Given the description of an element on the screen output the (x, y) to click on. 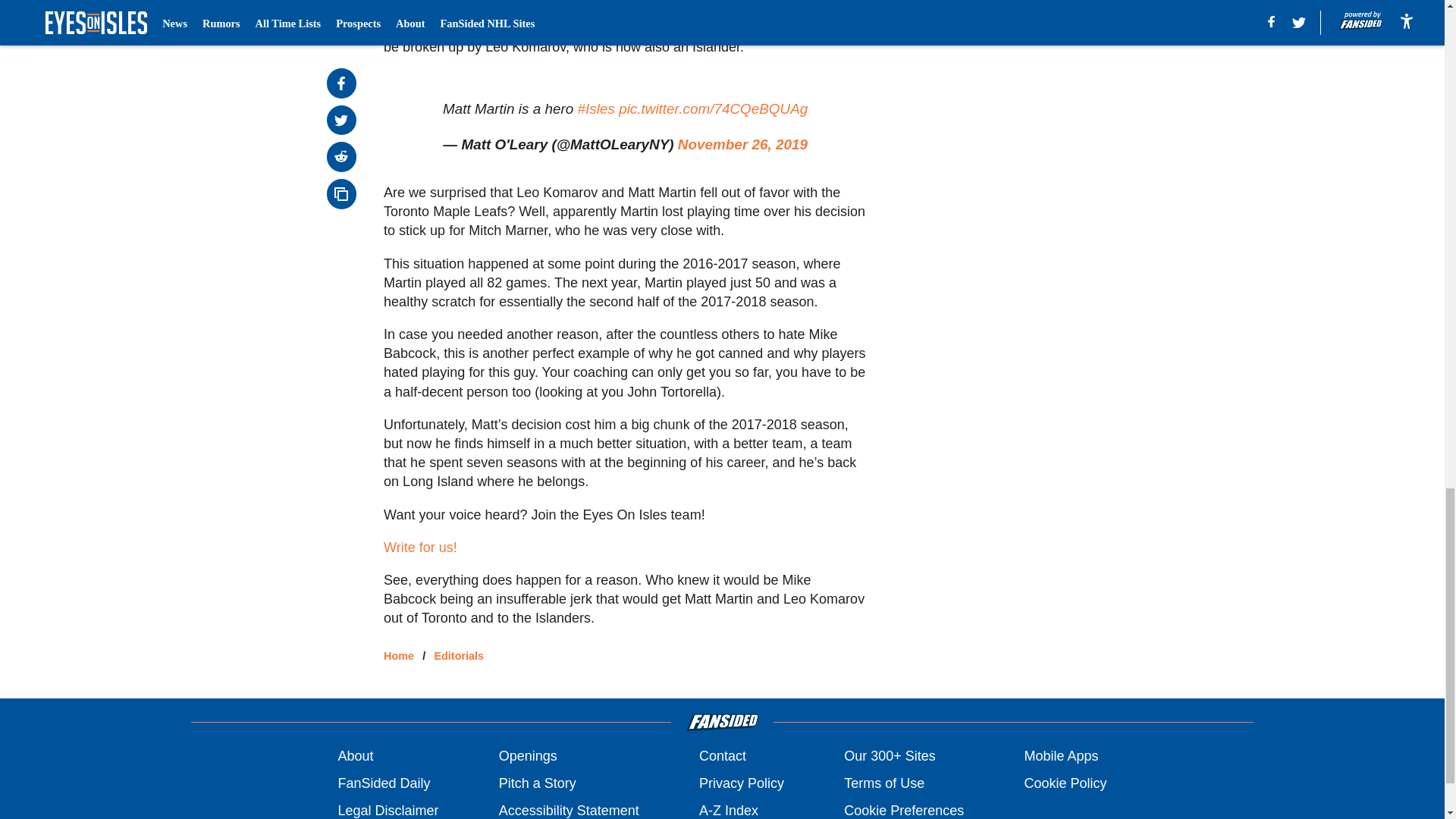
Openings (528, 755)
According to TML Updates (464, 8)
Contact (721, 755)
November 26, 2019 (743, 144)
FanSided Daily (383, 783)
Editorials (458, 655)
About (354, 755)
Write for us! (420, 547)
Mobile Apps (1060, 755)
Home (398, 655)
